Given the description of an element on the screen output the (x, y) to click on. 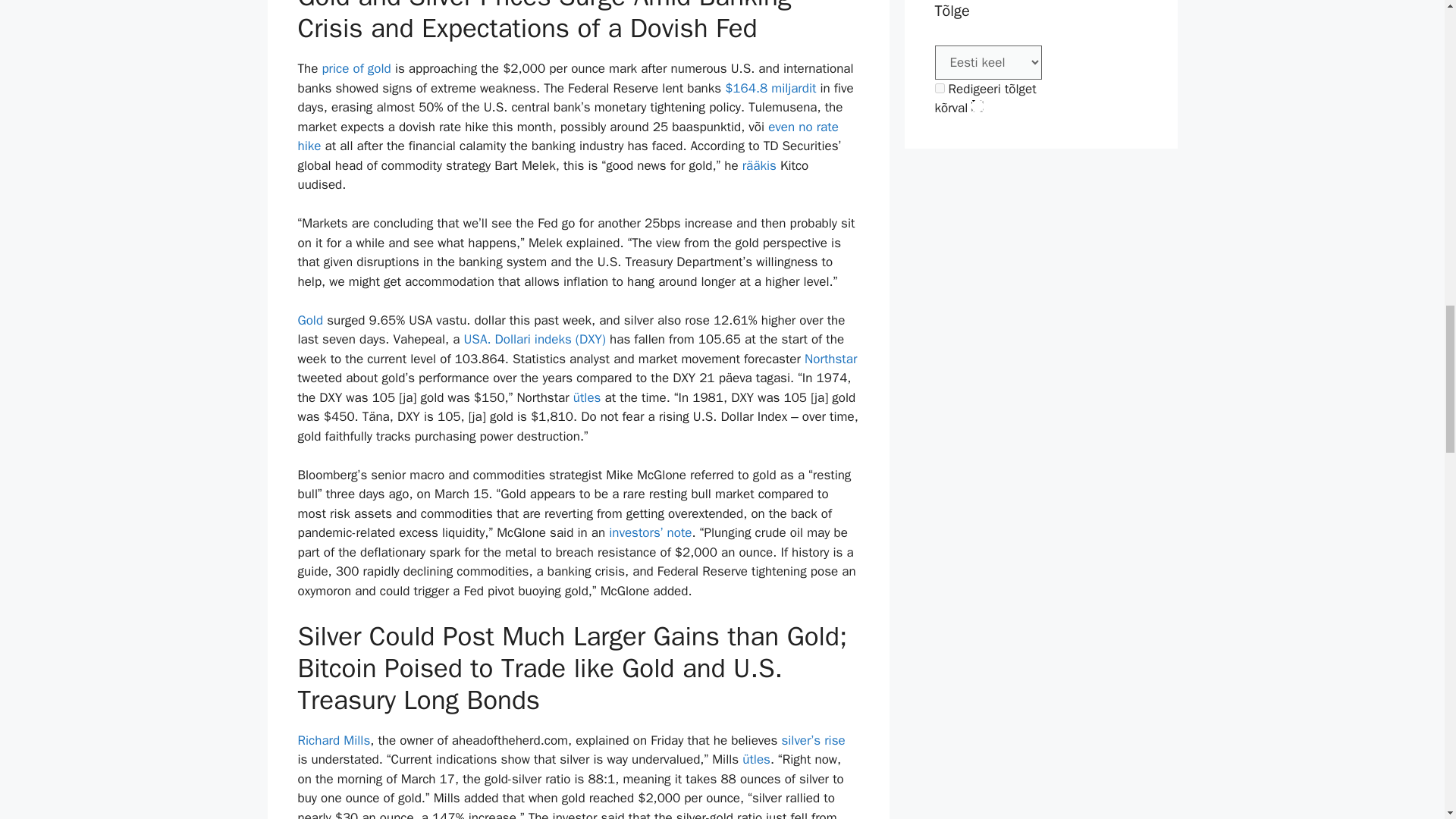
Northstar (831, 358)
even no rate hike (567, 136)
1 (938, 88)
price of gold (355, 68)
Gold (310, 320)
Richard Mills (333, 740)
